Given the description of an element on the screen output the (x, y) to click on. 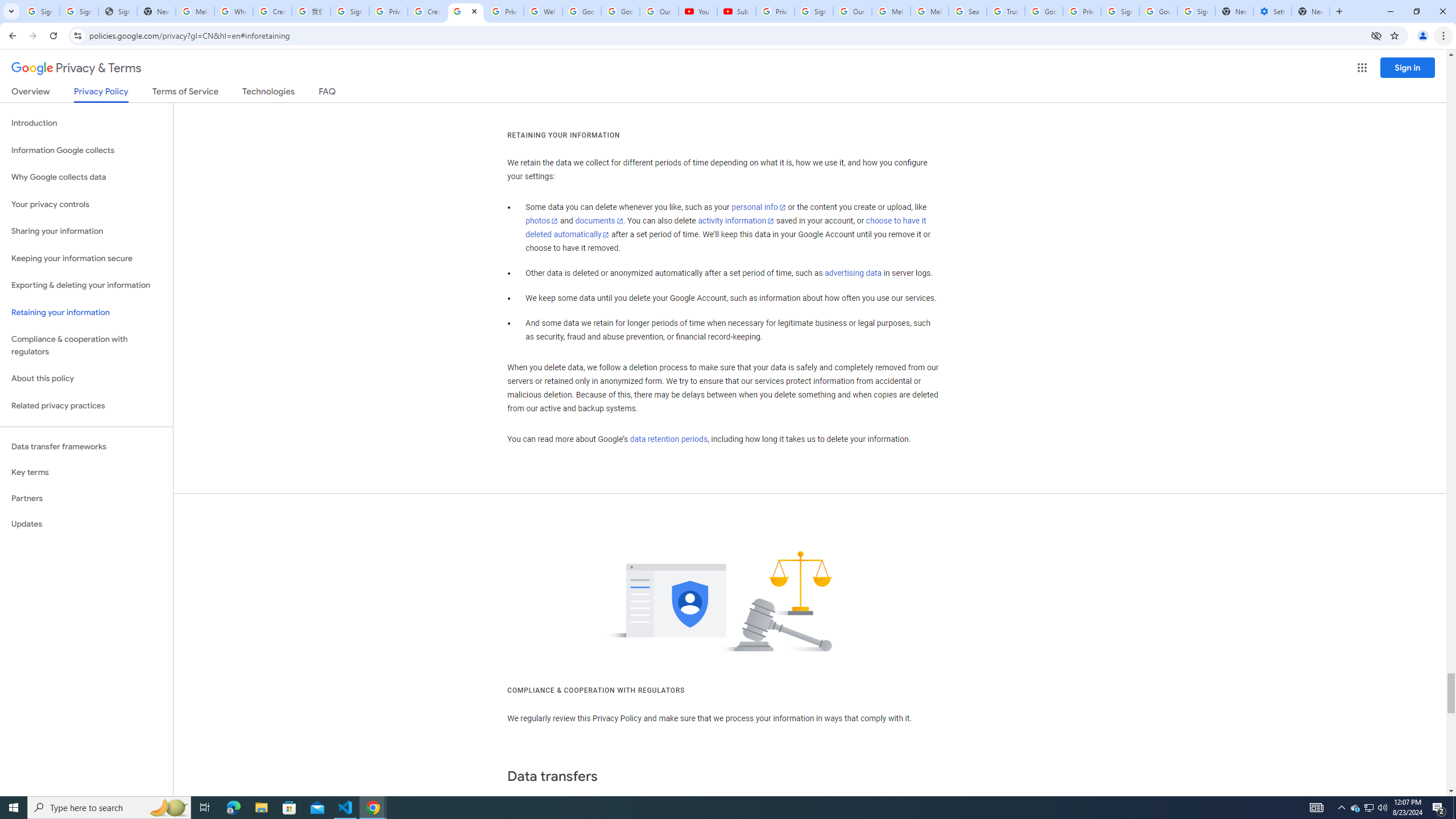
Sign in (1407, 67)
Welcome to My Activity (542, 11)
Your privacy controls (86, 204)
Settings - Addresses and more (1272, 11)
Sign in - Google Accounts (813, 11)
Compliance & cooperation with regulators (86, 345)
FAQ (327, 93)
Sign In - USA TODAY (117, 11)
Sign in - Google Accounts (40, 11)
YouTube (697, 11)
